Given the description of an element on the screen output the (x, y) to click on. 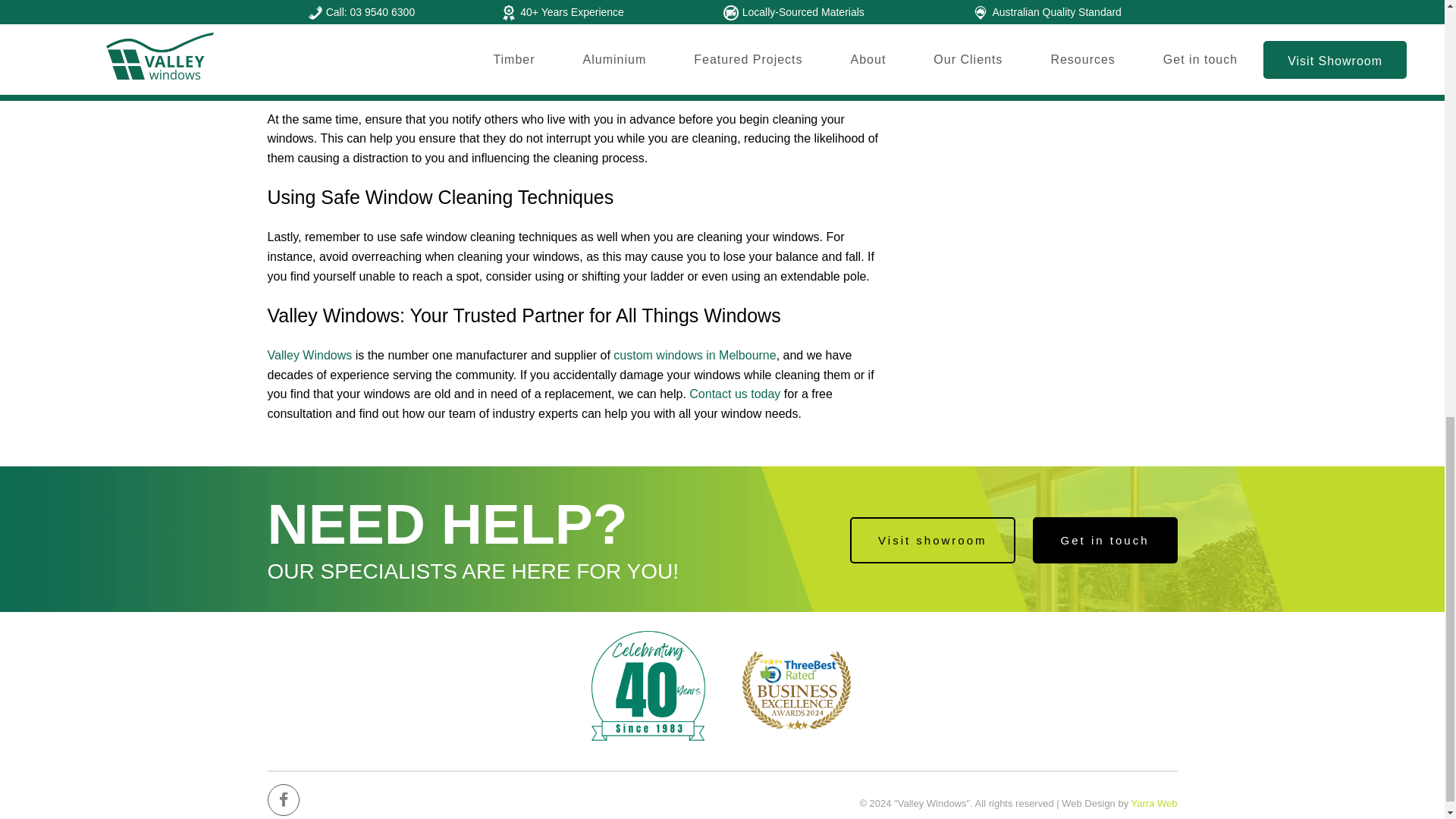
custom windows in Melbourne (694, 354)
Valley Windows (309, 354)
Contact us today (734, 393)
Visit showroom (932, 539)
